Given the description of an element on the screen output the (x, y) to click on. 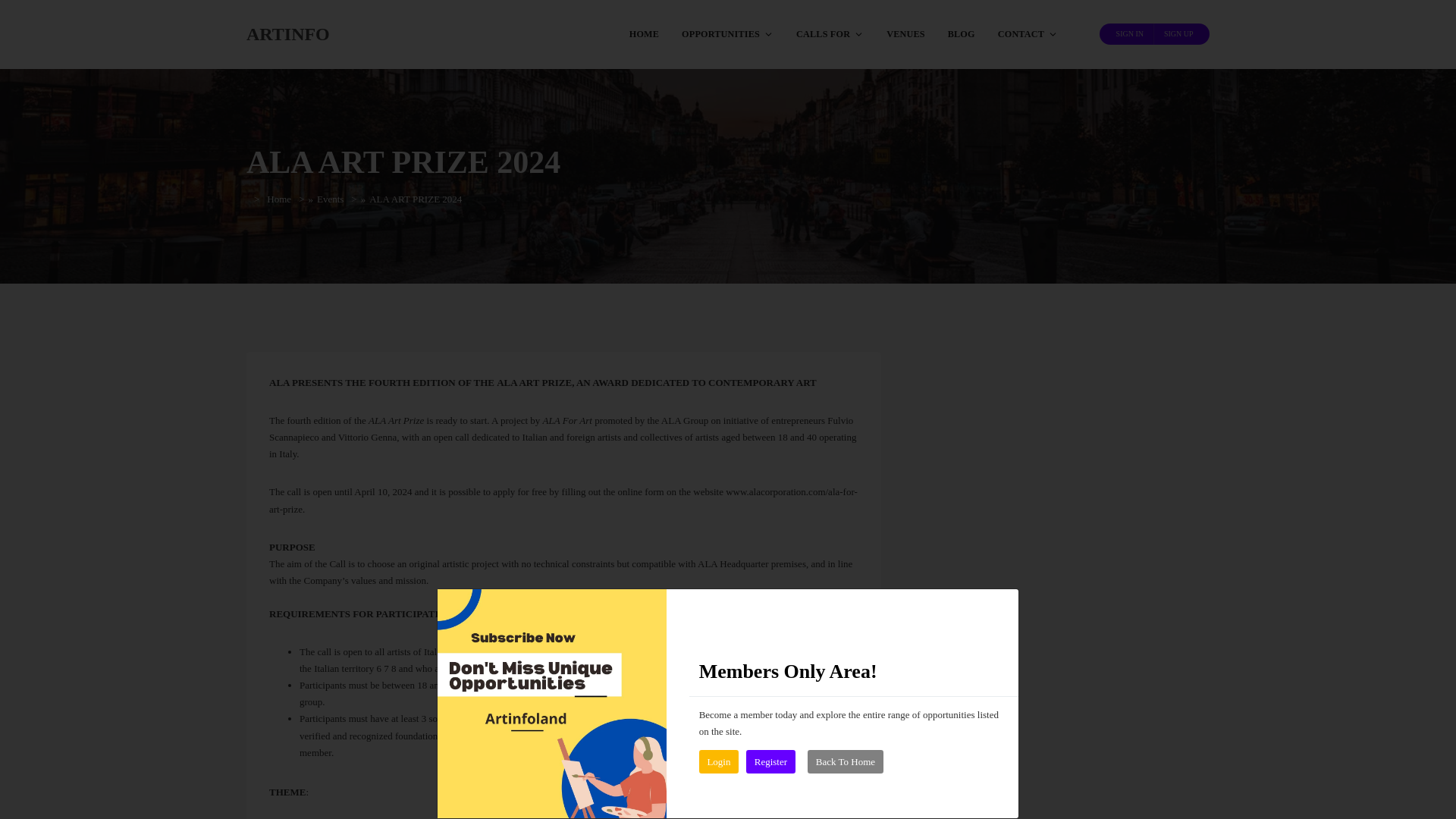
HOME (643, 33)
OPPORTUNITIES (726, 33)
ARTINFO (288, 33)
